Given the description of an element on the screen output the (x, y) to click on. 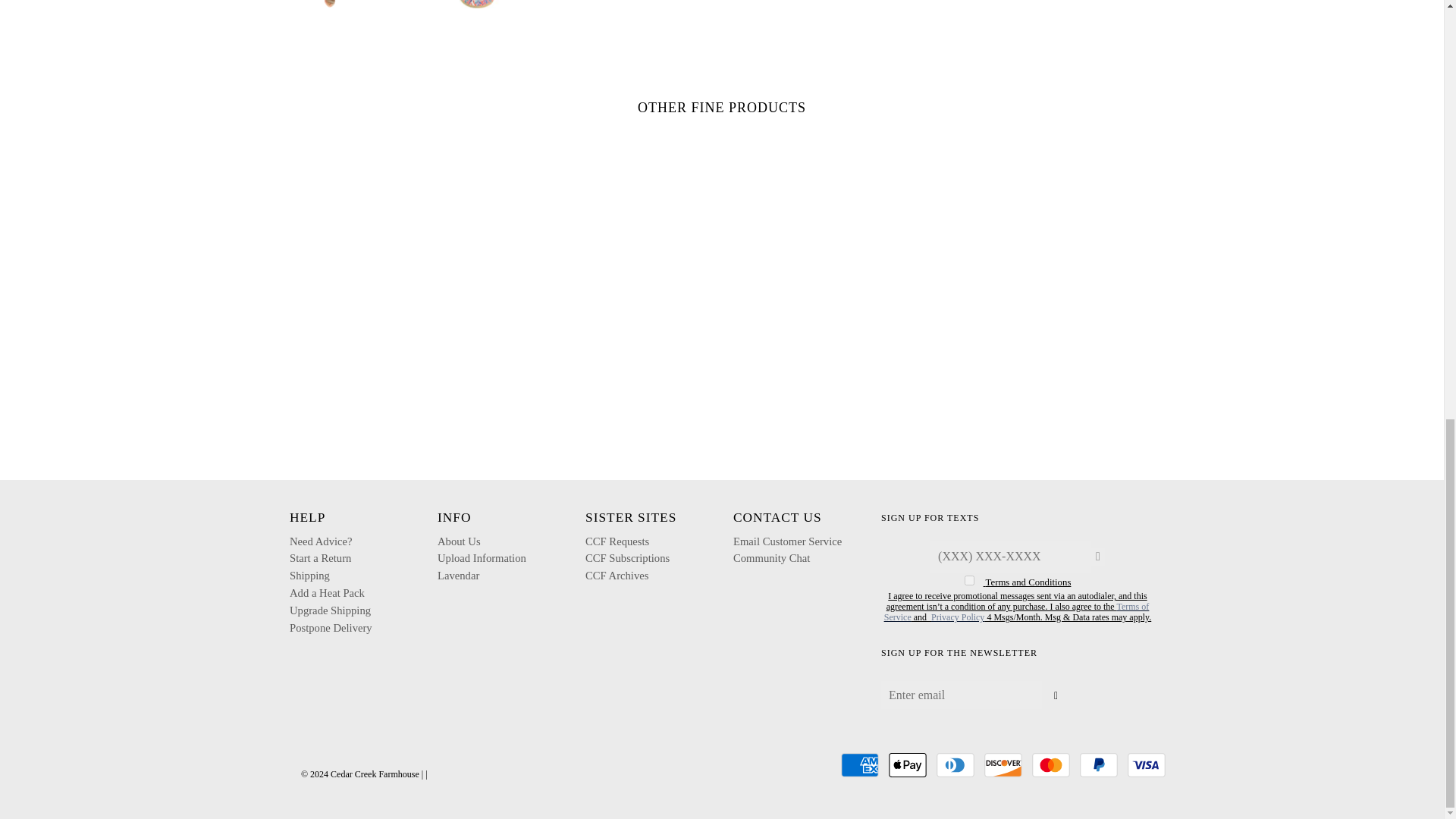
Echeveria Sugared Jelly, Cluster (472, 4)
on (968, 580)
Echeveria Sugared Jelly, Cluster (342, 4)
Echeveria Sugared Jelly, Cluster (601, 4)
